Given the description of an element on the screen output the (x, y) to click on. 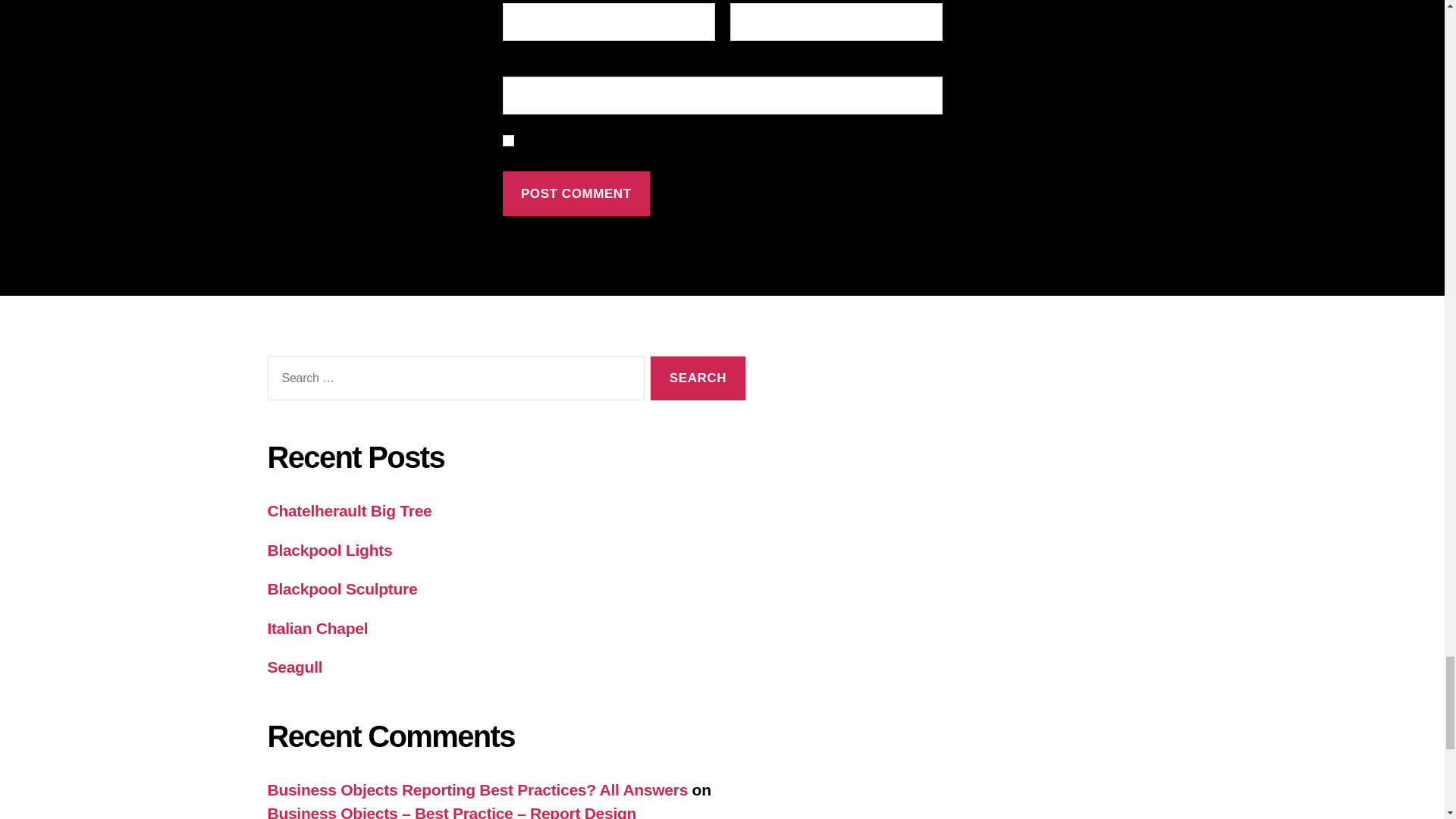
Search (697, 378)
yes (507, 140)
Search (697, 378)
Post Comment (575, 193)
